Given the description of an element on the screen output the (x, y) to click on. 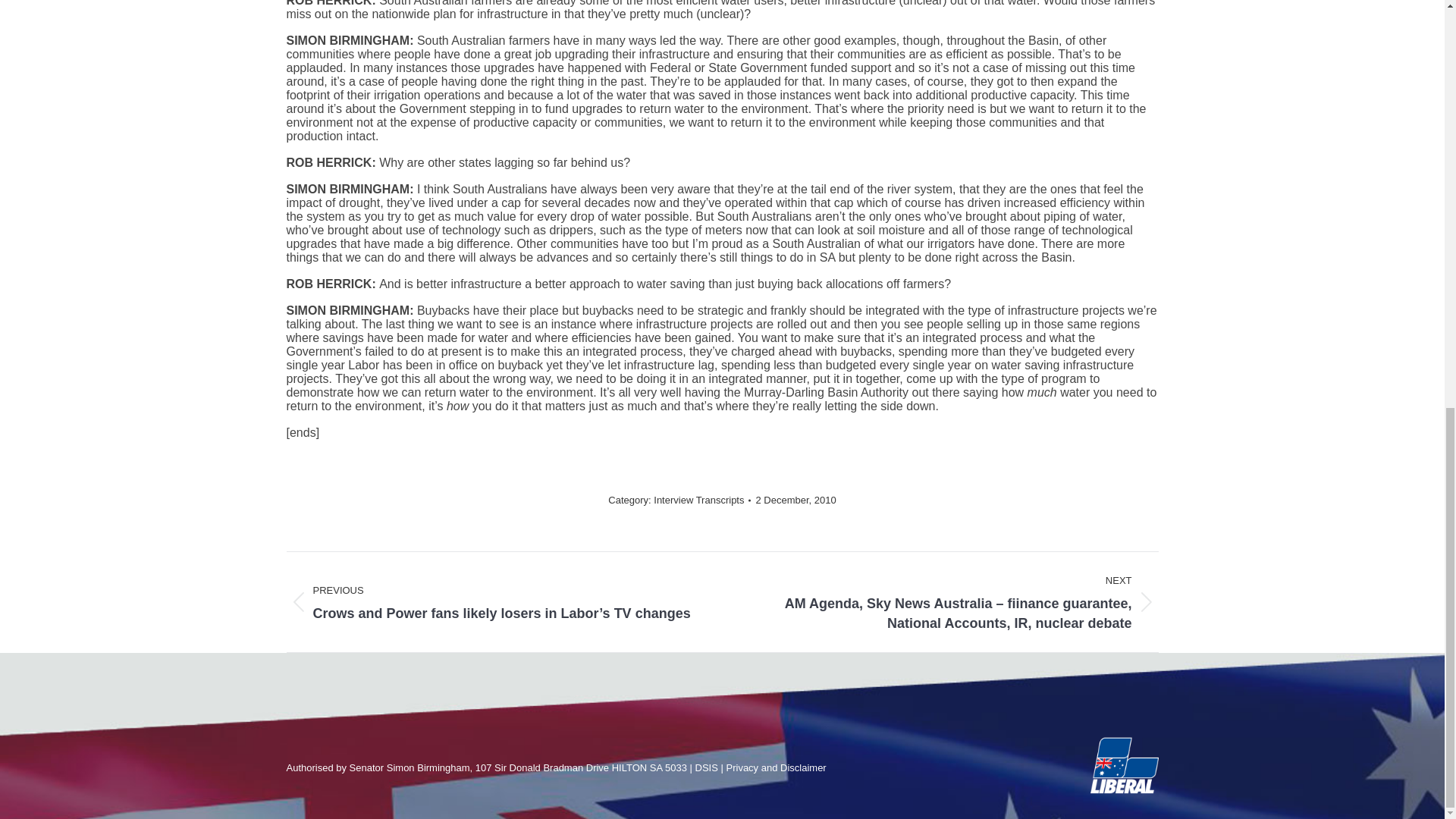
12:00 am (795, 499)
